Given the description of an element on the screen output the (x, y) to click on. 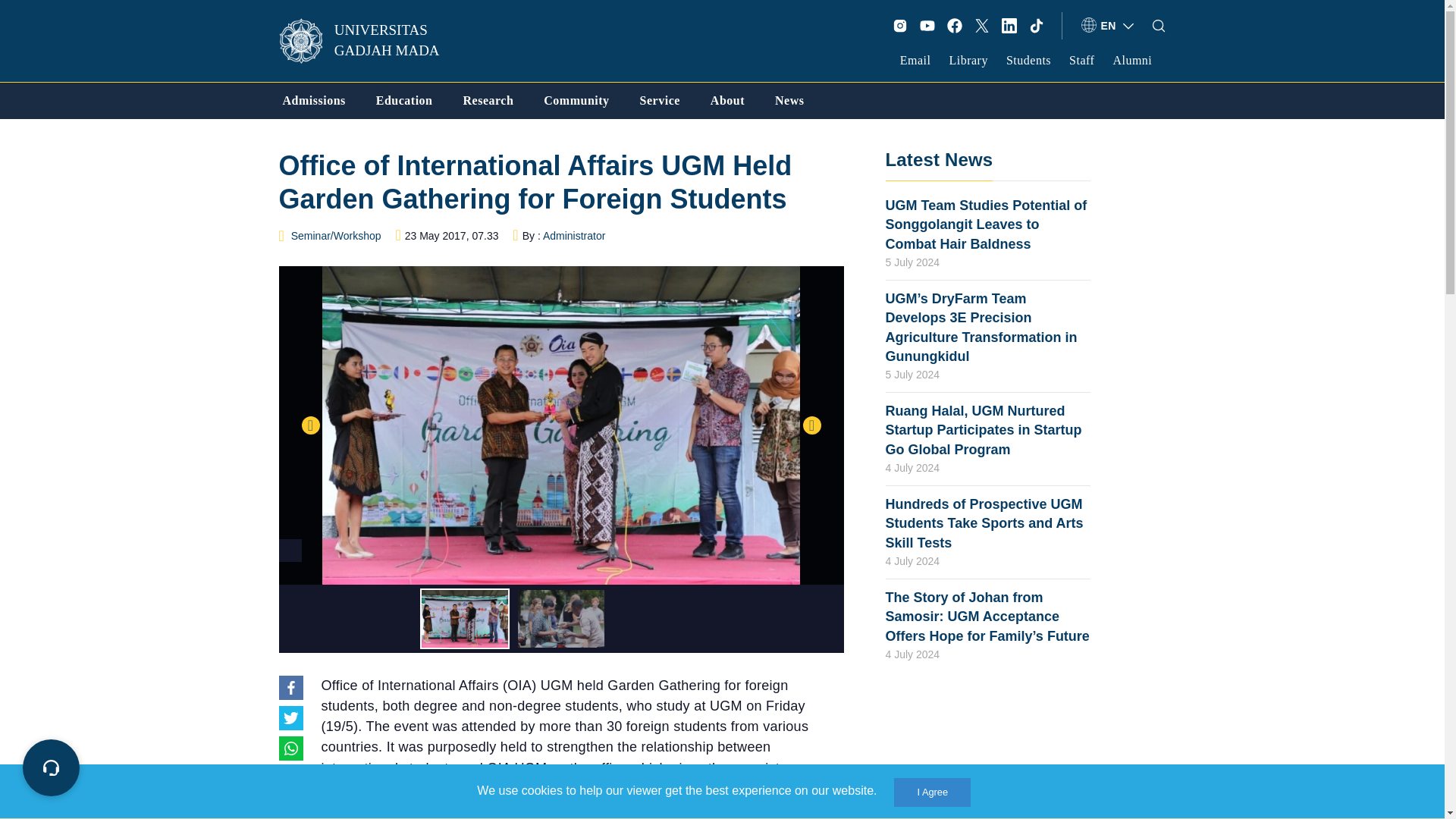
Admissions (313, 100)
UNIVERSITAS GADJAH MADA (369, 40)
EN (1108, 25)
Students (1028, 60)
Posts by Administrator (574, 235)
Staff (1081, 60)
Alumni (1131, 60)
Education (403, 100)
Email (915, 60)
Library (968, 60)
